Given the description of an element on the screen output the (x, y) to click on. 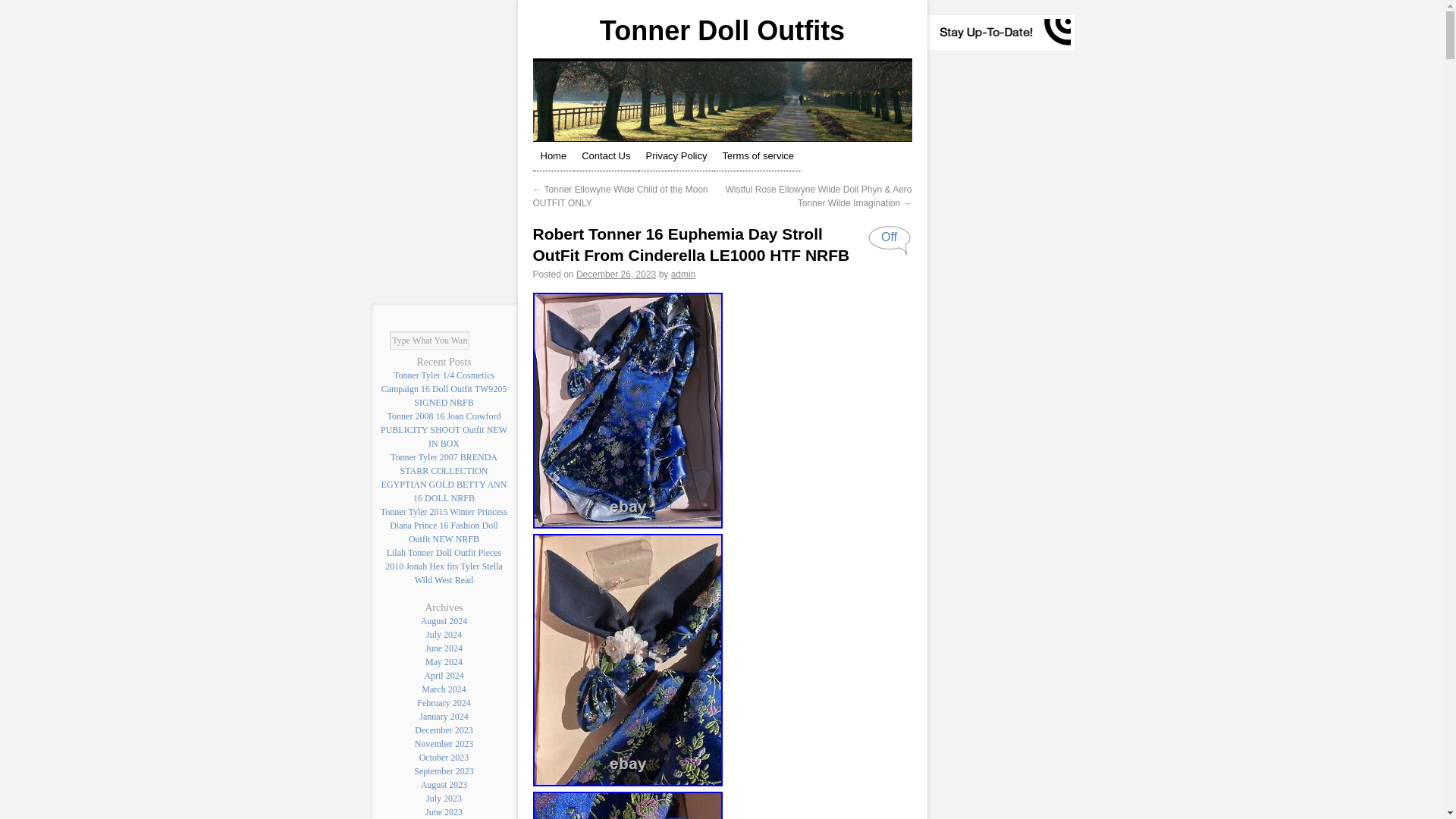
Search (483, 340)
Search (483, 340)
May 2024 (444, 661)
October 2023 (443, 757)
November 2023 (444, 743)
July 2023 (443, 798)
April 2024 (443, 675)
August 2024 (443, 620)
